Given the description of an element on the screen output the (x, y) to click on. 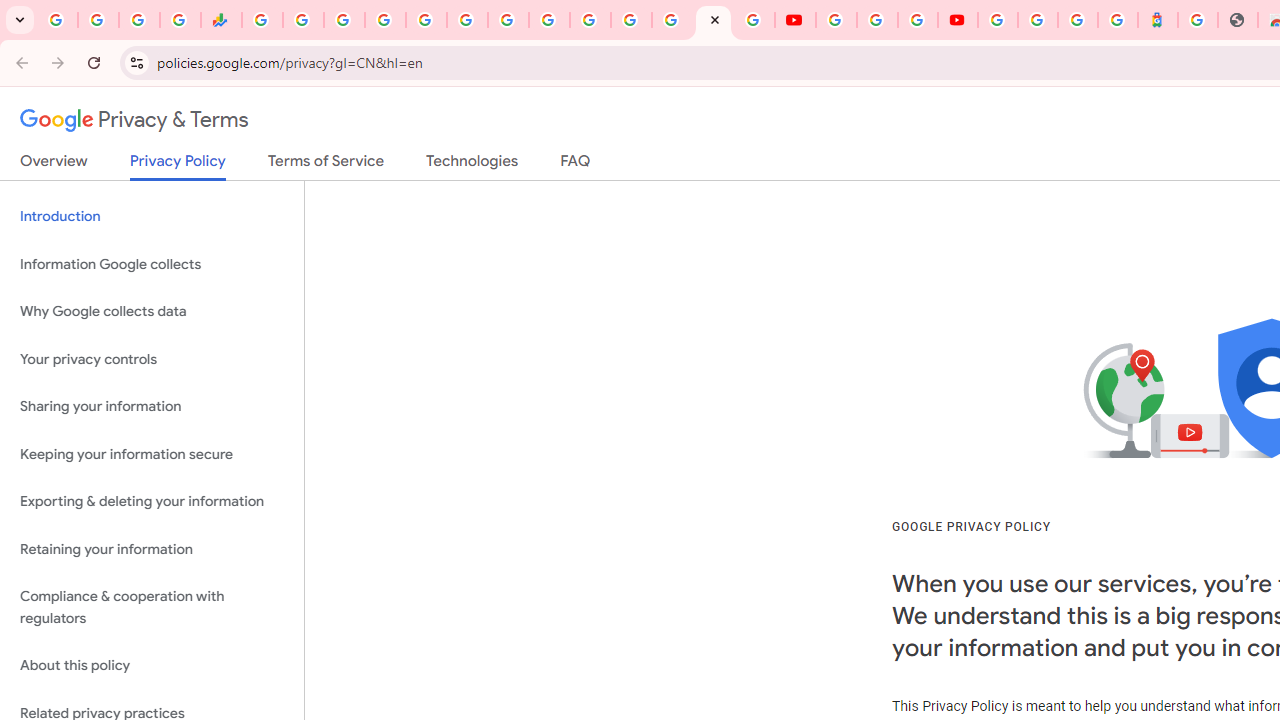
Sign in - Google Accounts (384, 20)
Sign in - Google Accounts (589, 20)
Your privacy controls (152, 358)
Sign in - Google Accounts (997, 20)
About this policy (152, 666)
Sign in - Google Accounts (1037, 20)
Why Google collects data (152, 312)
